Given the description of an element on the screen output the (x, y) to click on. 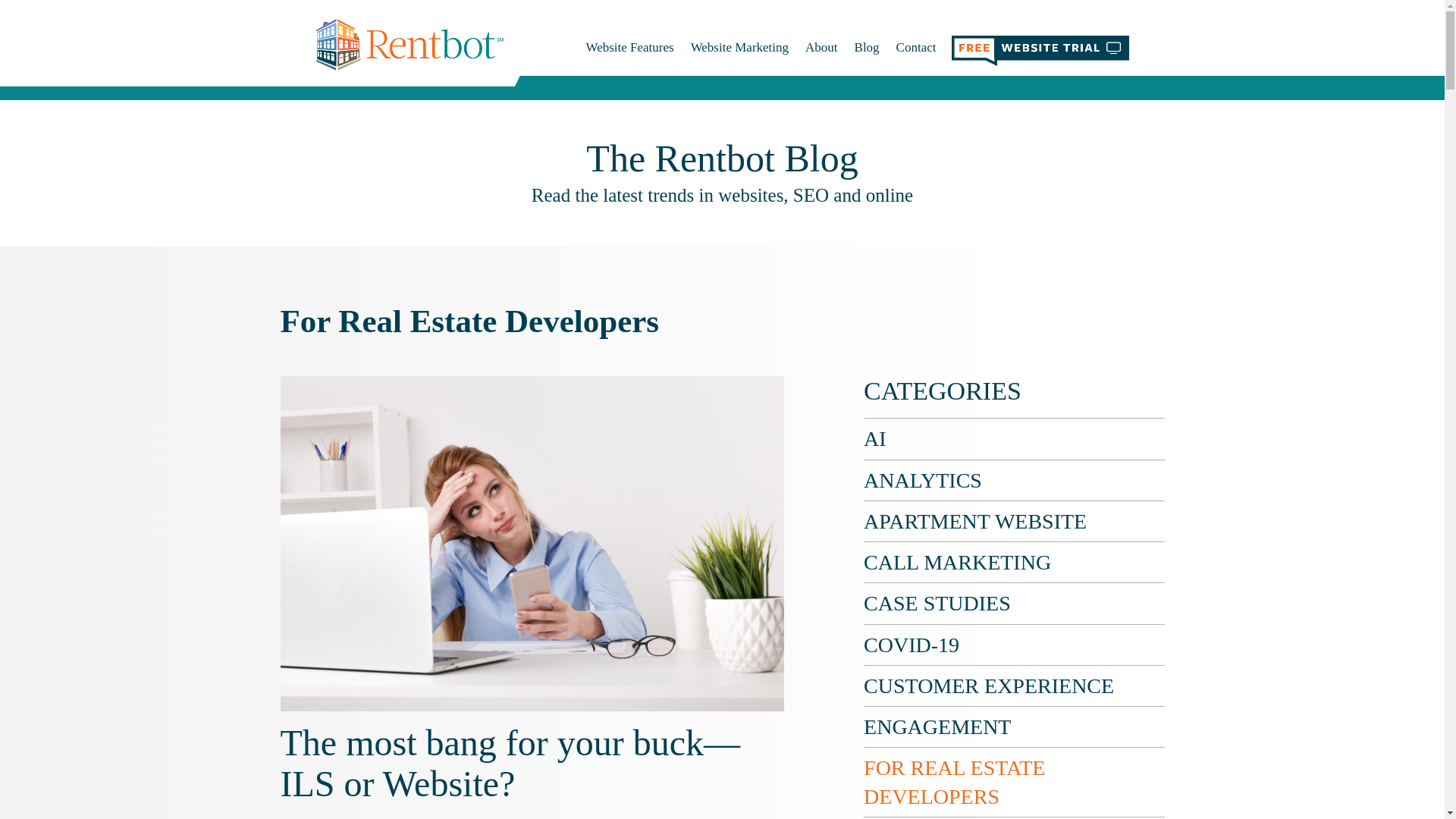
Website Marketing (747, 47)
Contact (916, 47)
Blog (875, 47)
Website Features (637, 47)
Rentbot (408, 43)
About (829, 47)
